Given the description of an element on the screen output the (x, y) to click on. 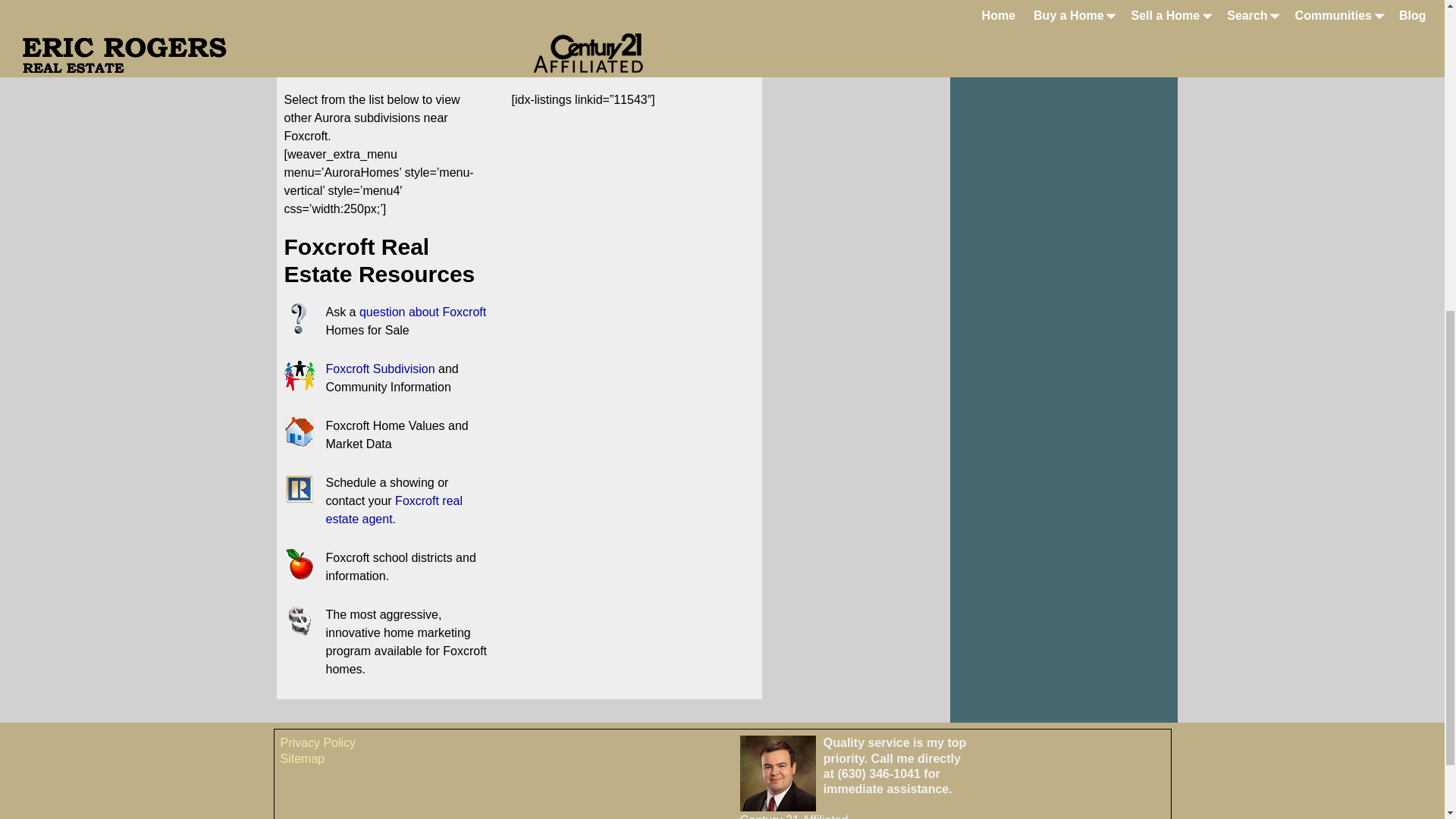
Sitemap (302, 758)
Privacy Policy (318, 742)
question about Foxcroft (422, 311)
Foxcroft Subdivision (380, 368)
Foxcroft real estate agent (394, 509)
